Given the description of an element on the screen output the (x, y) to click on. 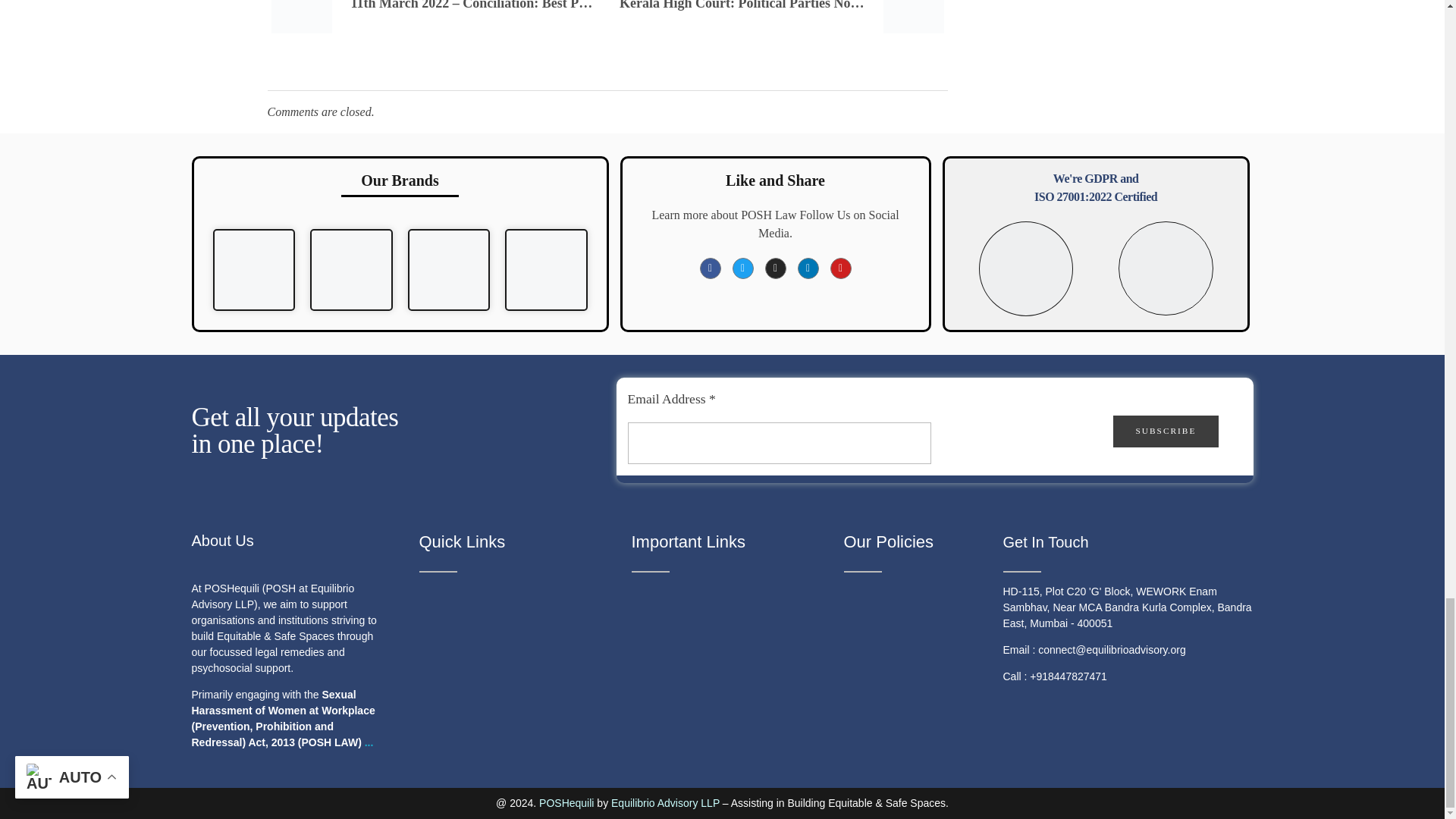
Subscribe (1166, 430)
